Given the description of an element on the screen output the (x, y) to click on. 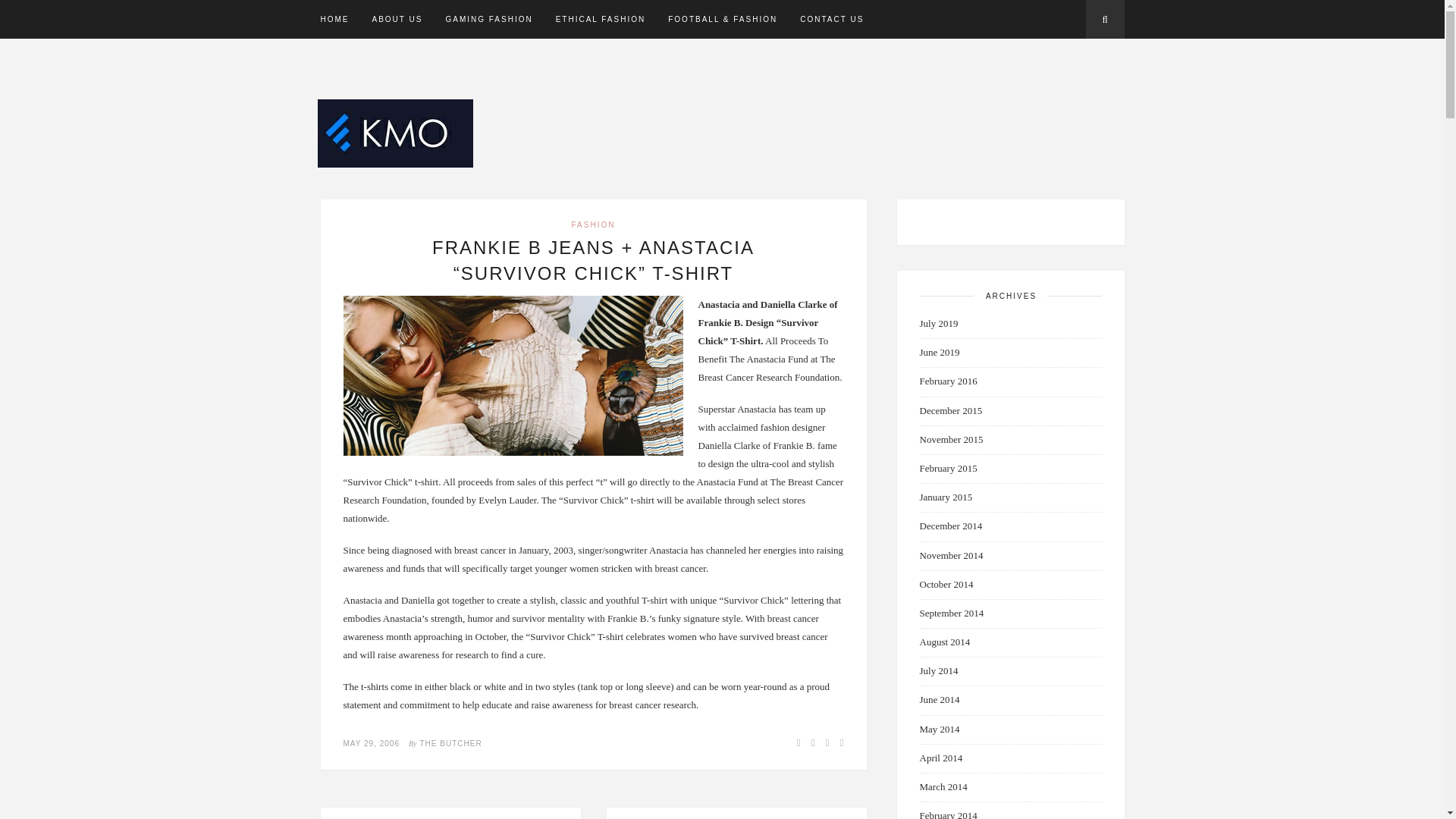
July 2019 (938, 323)
Posts by The Butcher (450, 743)
THE BUTCHER (450, 743)
FASHION (593, 225)
September 2014 (951, 613)
November 2015 (950, 439)
October 2014 (945, 583)
CONTACT US (831, 19)
PREVIOUS POST (449, 813)
GAMING FASHION (488, 19)
August 2014 (943, 641)
February 2015 (947, 468)
HOME (334, 19)
NEXT POST (736, 813)
July 2014 (938, 670)
